Given the description of an element on the screen output the (x, y) to click on. 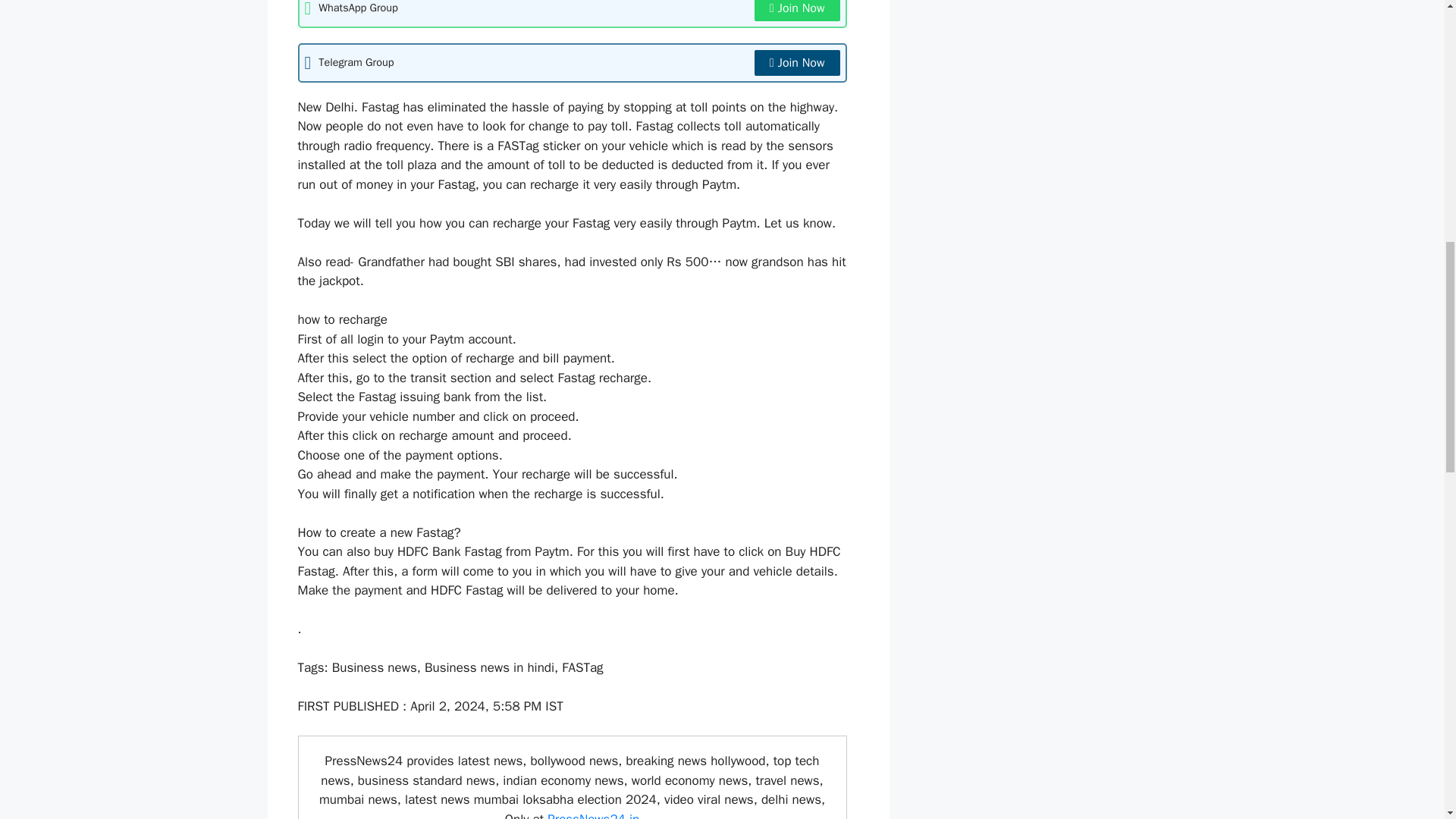
PressNews24.in (593, 815)
Join Now (797, 10)
Join Now (797, 62)
